Given the description of an element on the screen output the (x, y) to click on. 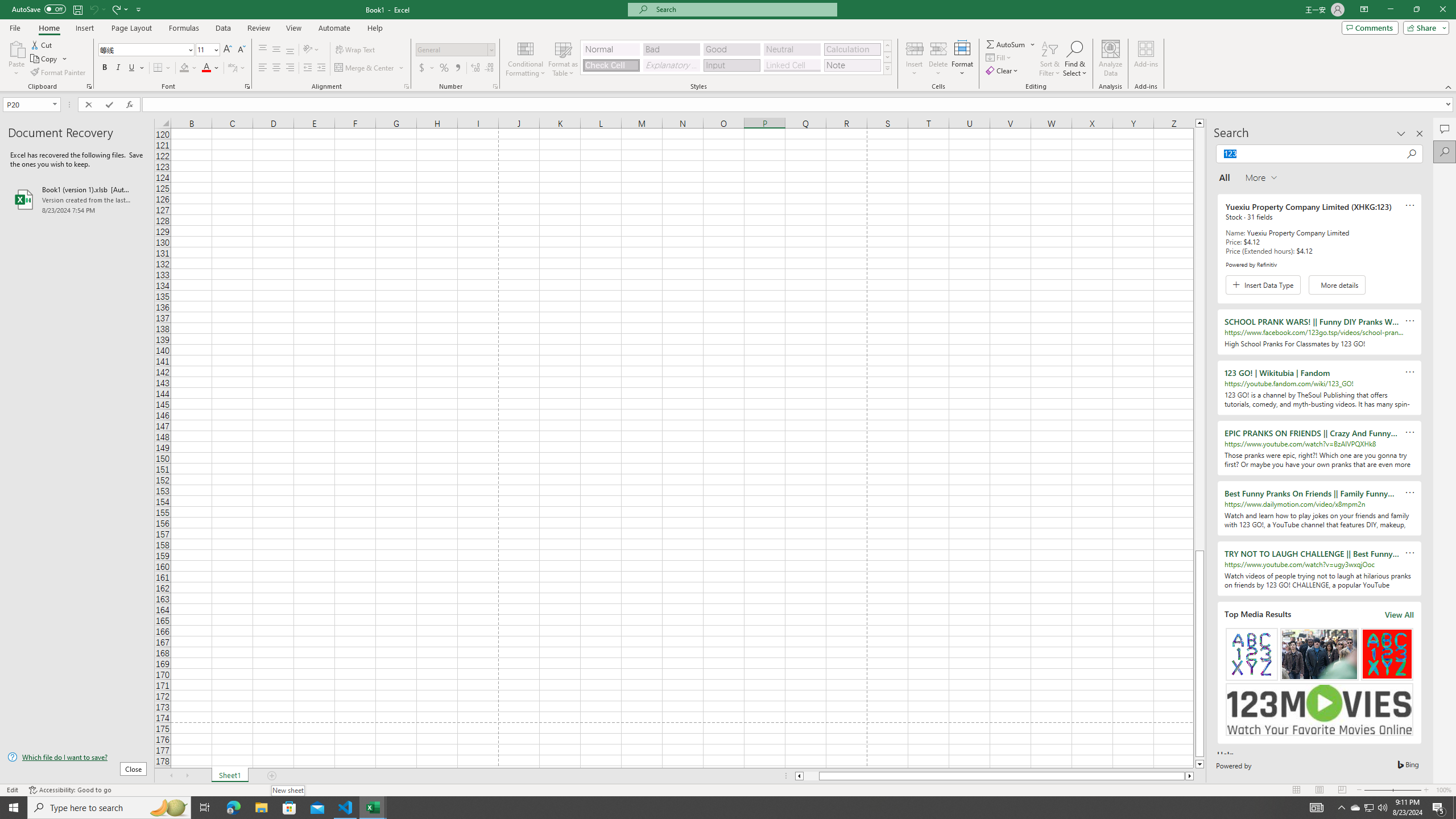
Cut (42, 44)
Borders (162, 67)
